Given the description of an element on the screen output the (x, y) to click on. 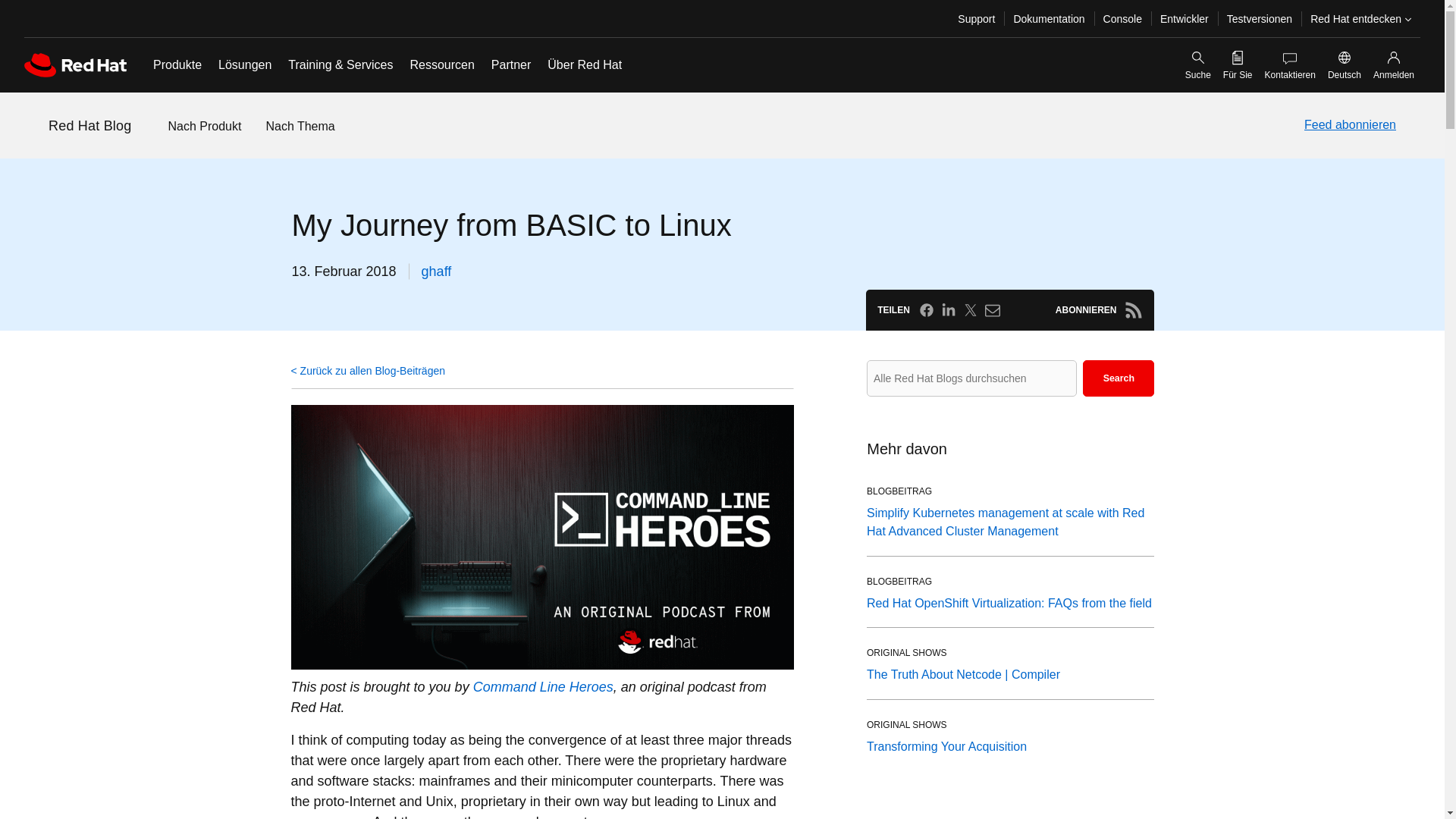
See more by ghaff (436, 271)
Testversionen (1259, 18)
Support (976, 18)
Console (1122, 18)
Red Hat entdecken (1361, 18)
Abonnieren (1132, 310)
Dokumentation (1048, 18)
Feed abonnieren (1350, 125)
Entwickler (1184, 18)
